Given the description of an element on the screen output the (x, y) to click on. 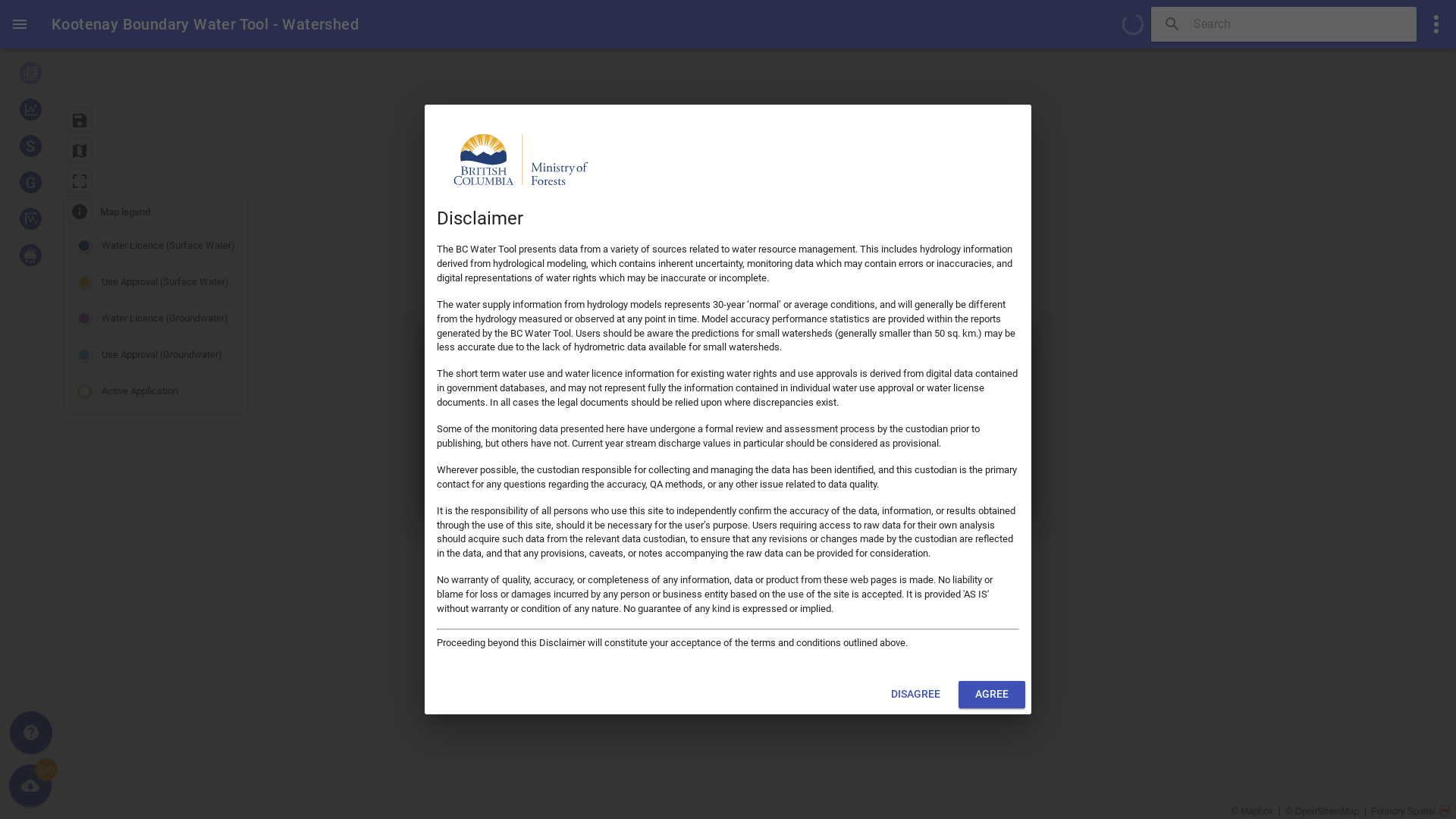
DISAGREE Element type: text (915, 694)
cloud_download Element type: text (30, 785)
help Element type: text (30, 732)
info Element type: text (79, 211)
Foundry Spatial Element type: text (1409, 811)
map Element type: text (79, 150)
AGREE Element type: text (991, 694)
SURE Element type: text (991, 486)
save Element type: text (79, 120)
NO THANKS Element type: text (910, 486)
crop_free Element type: text (79, 180)
menu Element type: text (19, 23)
more_vert Element type: text (1435, 23)
